Given the description of an element on the screen output the (x, y) to click on. 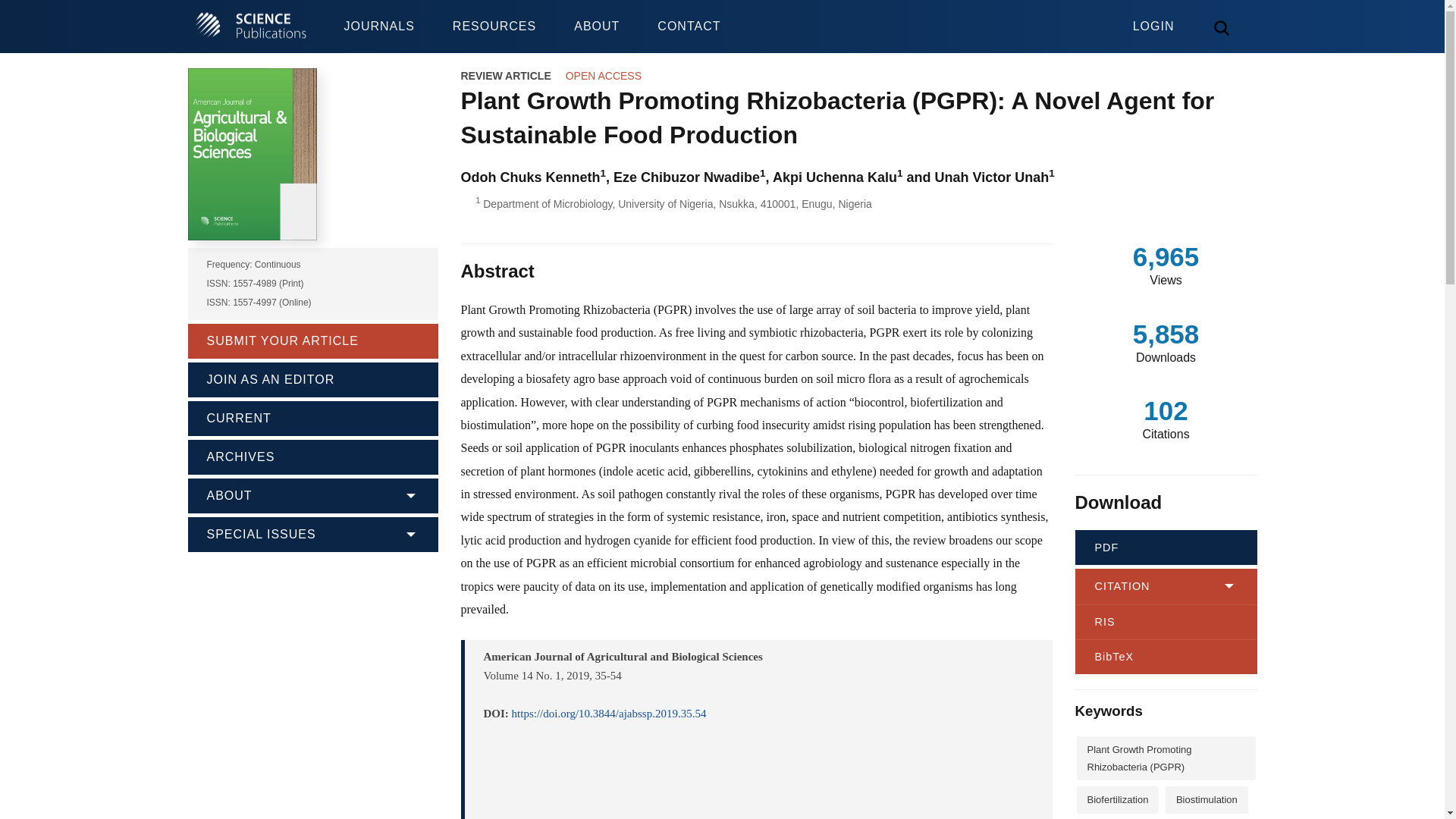
CURRENT (312, 416)
SUBMIT YOUR ARTICLE (312, 339)
JOURNALS (378, 26)
SPECIAL ISSUES (312, 532)
ARCHIVES (312, 455)
LOGIN (1153, 17)
BibTeX (1166, 656)
CONTACT (689, 26)
Science Publications (250, 26)
RIS (1166, 621)
JOIN AS AN EDITOR (312, 377)
ABOUT (312, 494)
ABOUT (596, 26)
CITATION (1166, 585)
PDF (1166, 547)
